Given the description of an element on the screen output the (x, y) to click on. 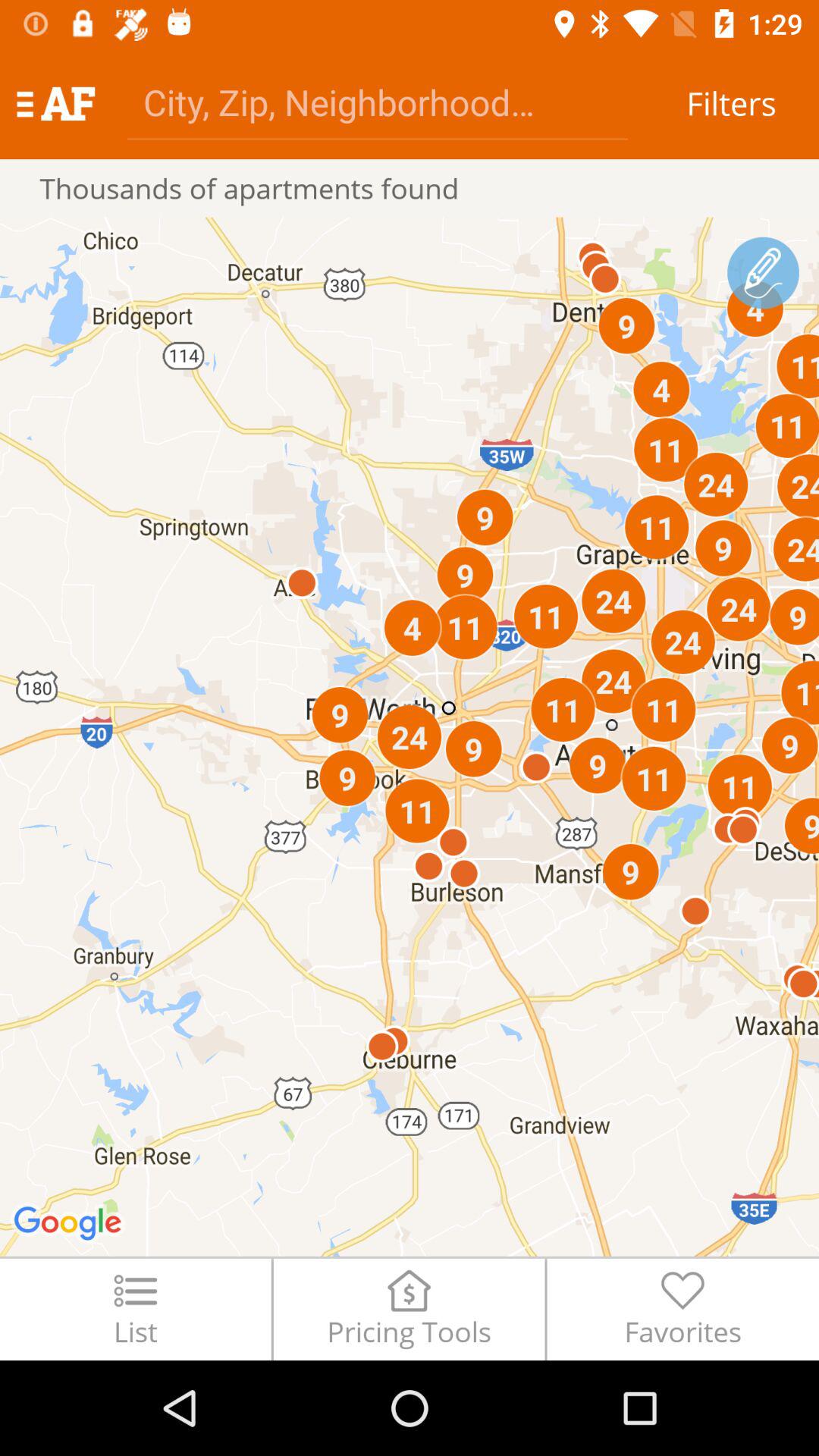
open the icon to the right of the list icon (408, 1309)
